Given the description of an element on the screen output the (x, y) to click on. 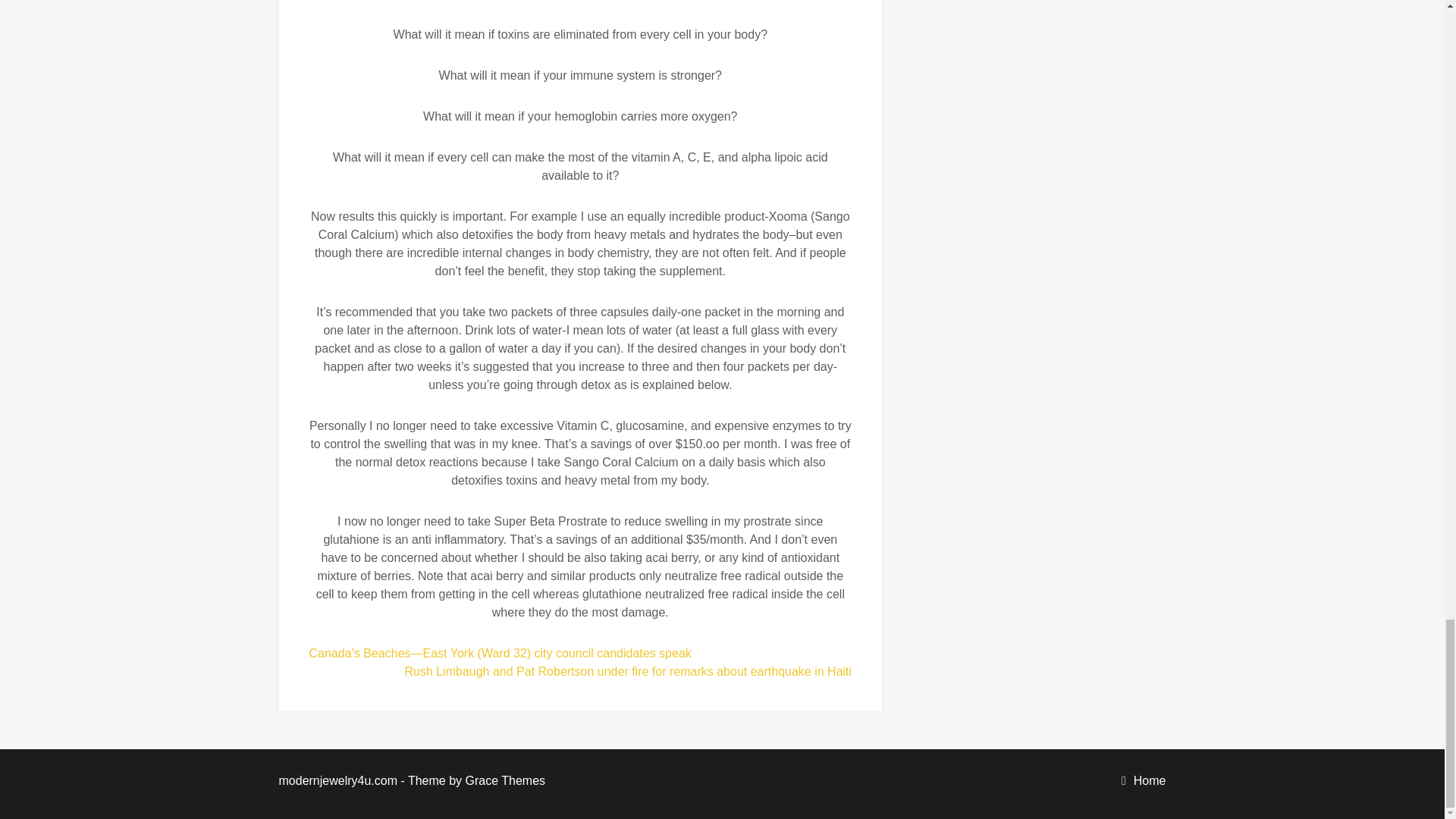
Home (1150, 780)
